Given the description of an element on the screen output the (x, y) to click on. 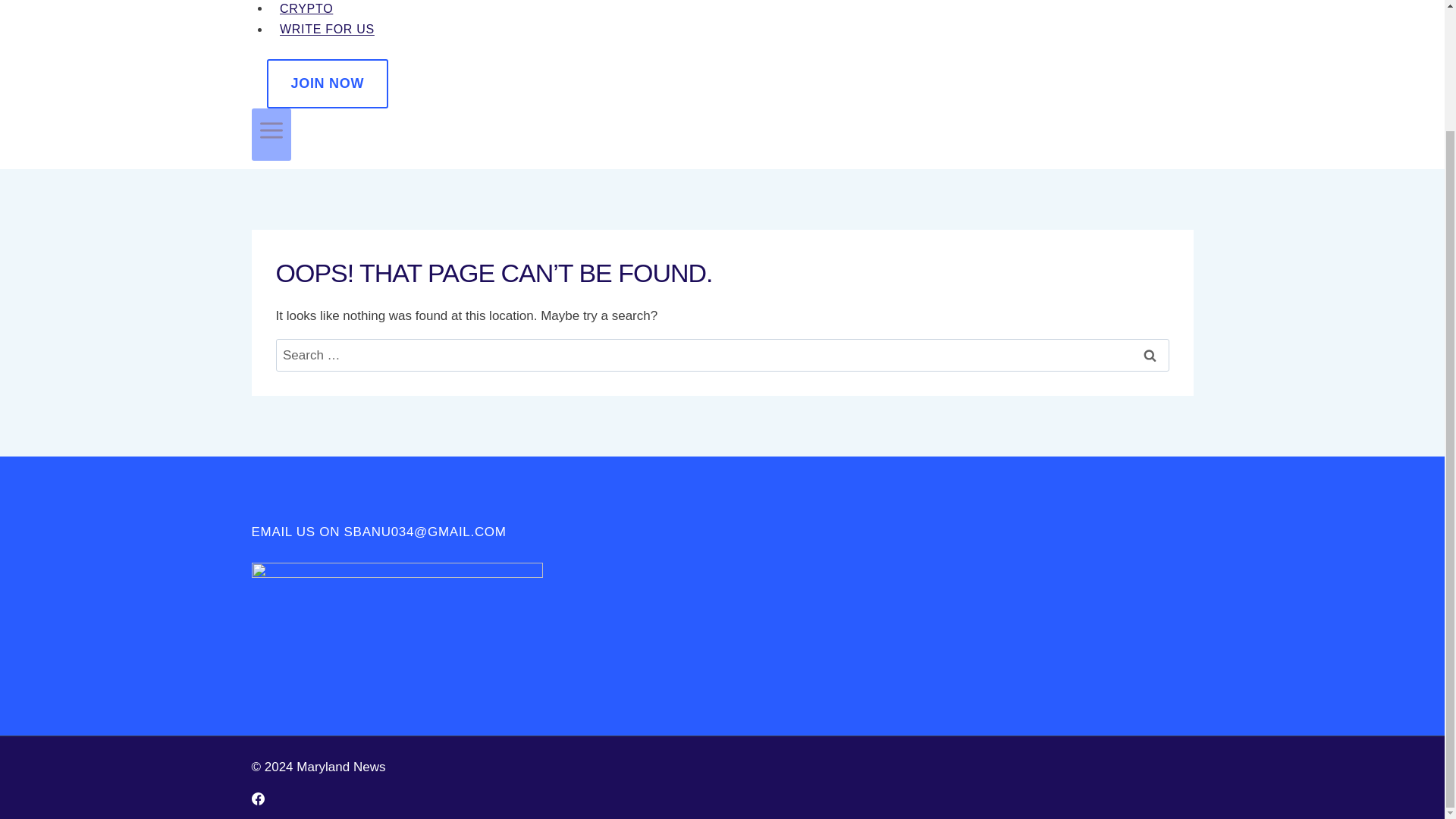
WRITE FOR US (327, 28)
Search (1150, 355)
JOIN NOW (327, 83)
Search (1150, 355)
CRYPTO (306, 8)
Search (1150, 355)
